Given the description of an element on the screen output the (x, y) to click on. 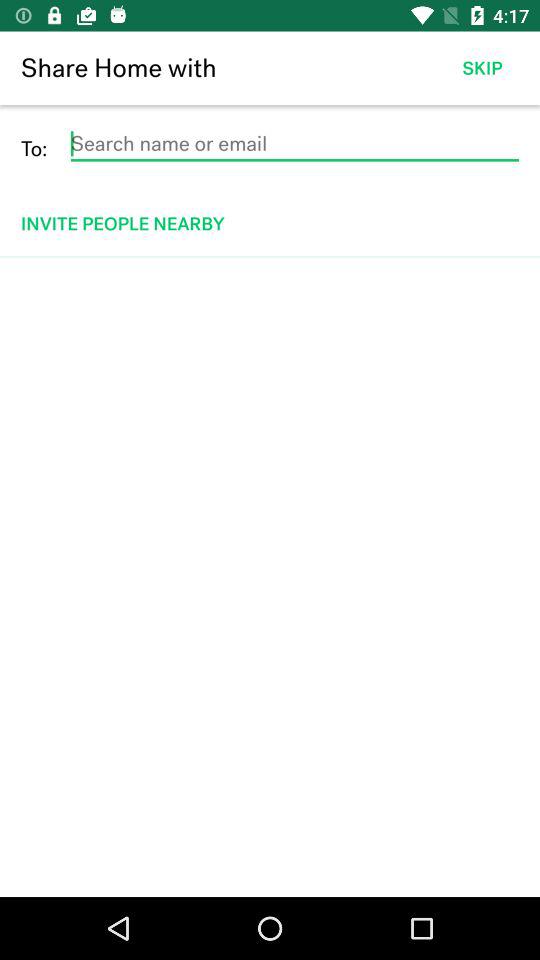
share home with name or email (294, 144)
